Given the description of an element on the screen output the (x, y) to click on. 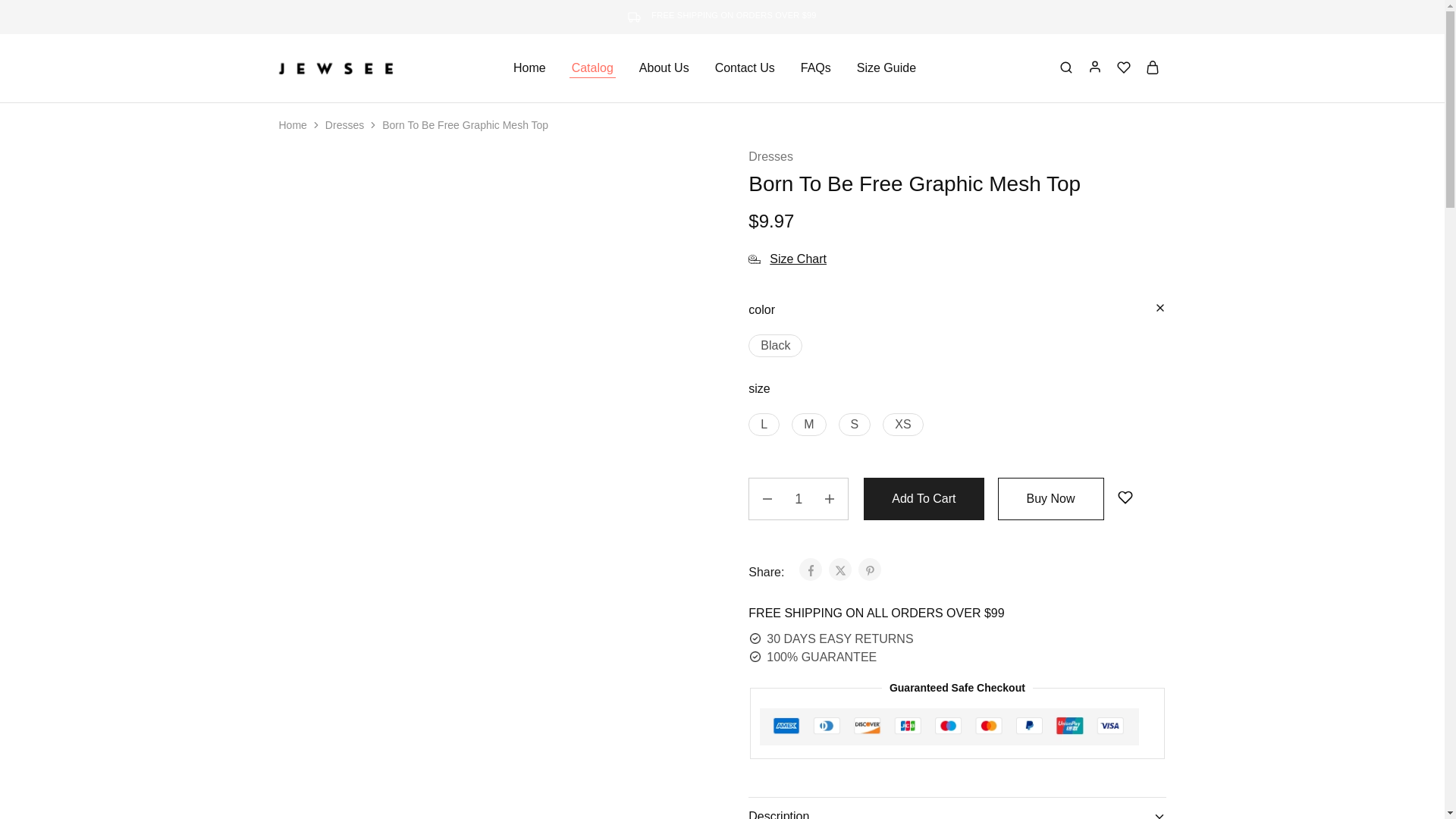
FAQs (814, 67)
Home (293, 124)
Add To Cart (923, 498)
Size Guide (886, 67)
Size Chart (787, 259)
Contact Us (745, 67)
Dresses (344, 124)
Home (529, 67)
About Us (664, 67)
Buy Now (1050, 498)
Dresses (770, 157)
Description (957, 807)
Catalog (592, 67)
